Given the description of an element on the screen output the (x, y) to click on. 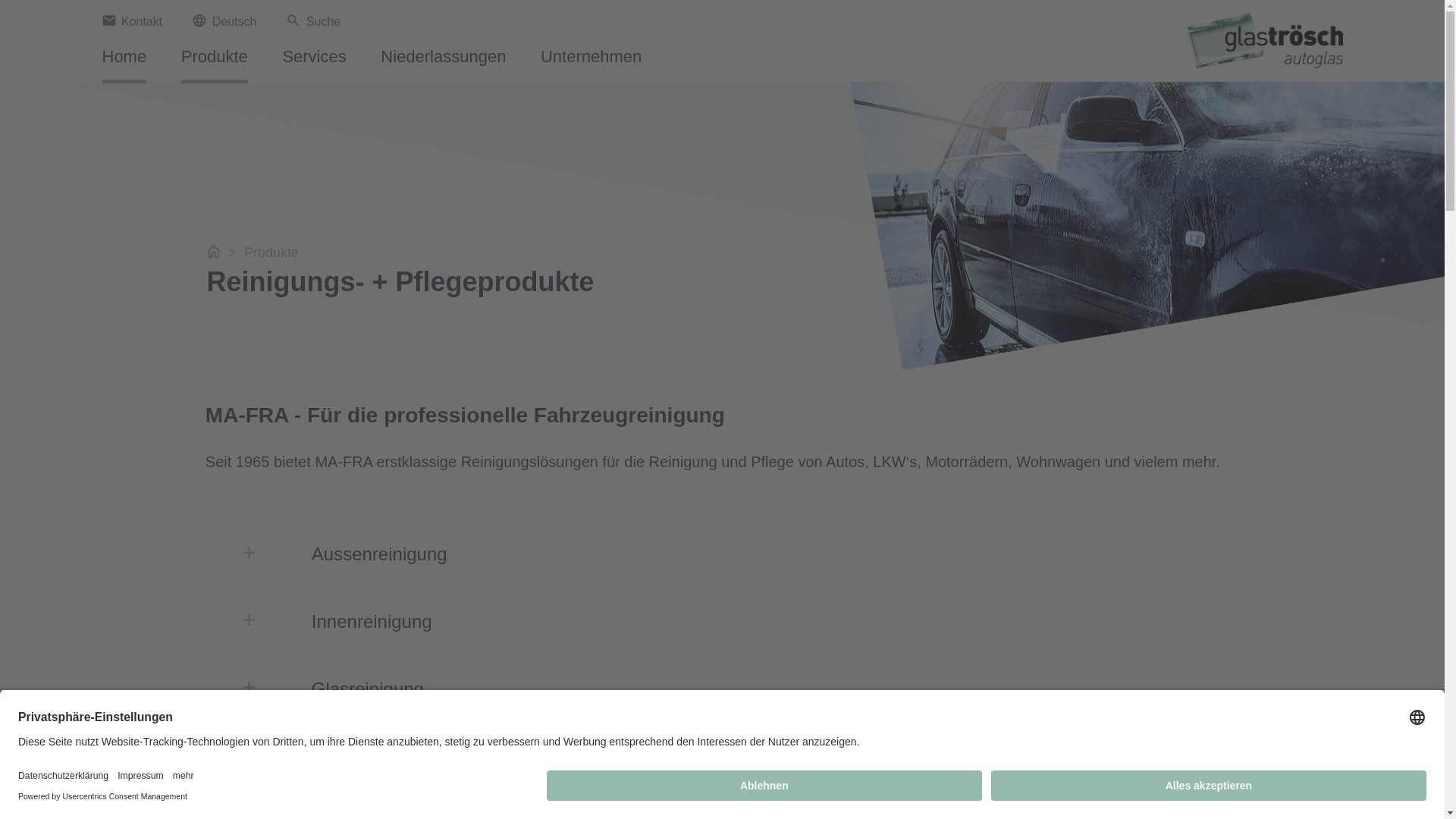
Innenreinigung Element type: text (722, 619)
Home Element type: text (123, 62)
Glasreinigung Element type: text (722, 687)
Niederlassungen Element type: text (442, 62)
Kontakt Element type: text (131, 21)
Aussenpflege Element type: text (722, 754)
Aussenreinigung Element type: text (722, 552)
Suchen Element type: text (733, 32)
Deutsch Element type: text (304, 31)
